Given the description of an element on the screen output the (x, y) to click on. 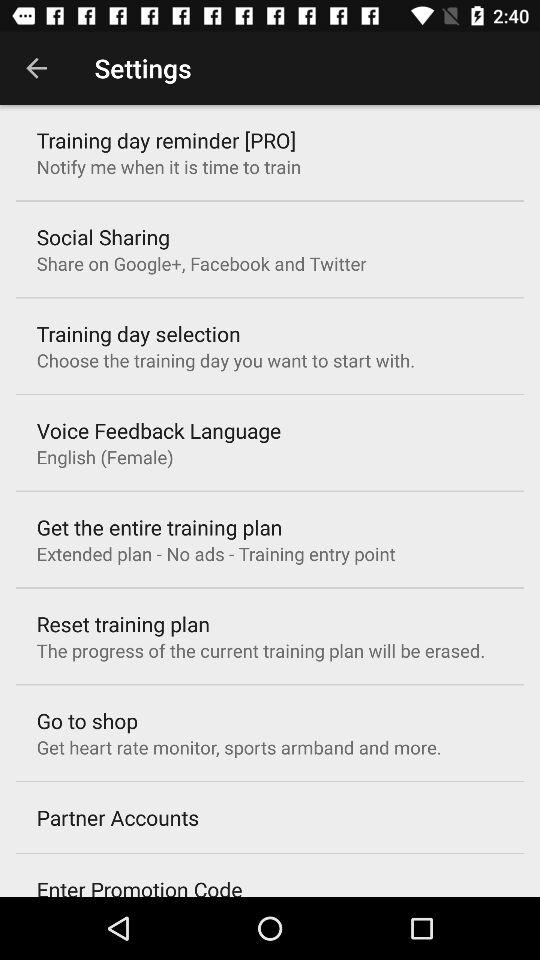
open item next to the settings app (36, 68)
